Given the description of an element on the screen output the (x, y) to click on. 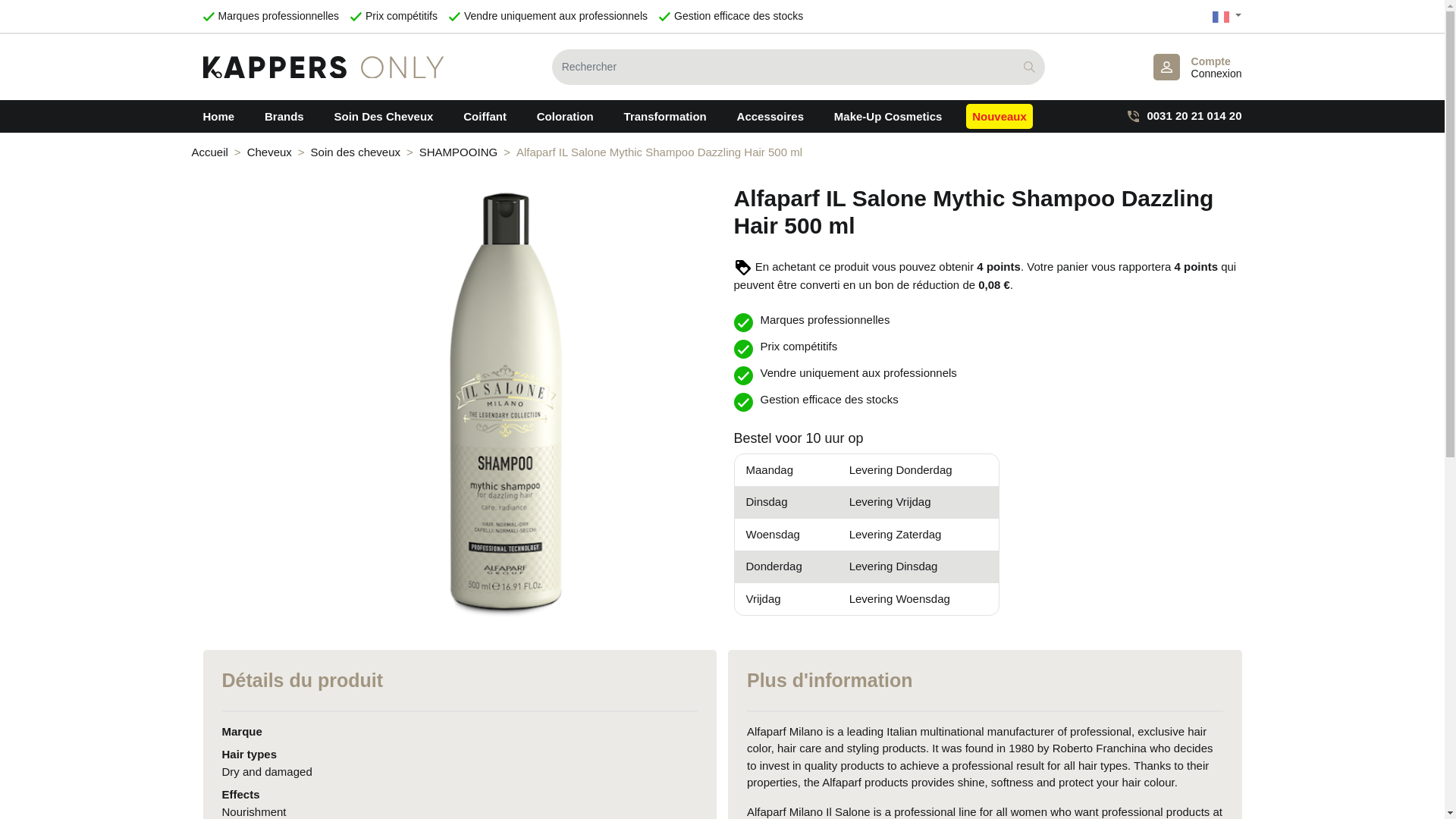
Identifiez-vous (1197, 67)
Brands (284, 116)
Home (1197, 67)
